Given the description of an element on the screen output the (x, y) to click on. 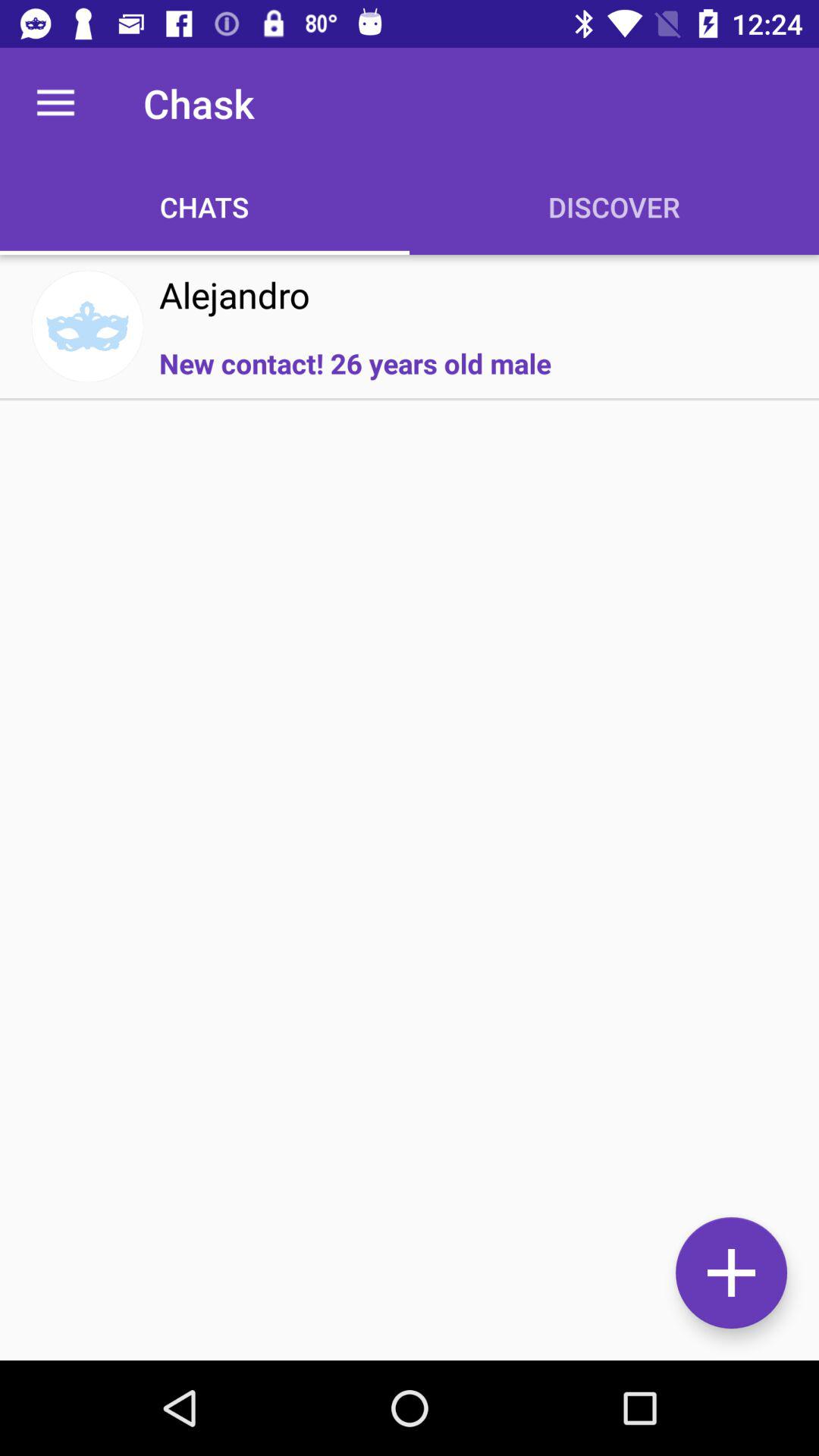
jump until the alejandro (234, 294)
